Given the description of an element on the screen output the (x, y) to click on. 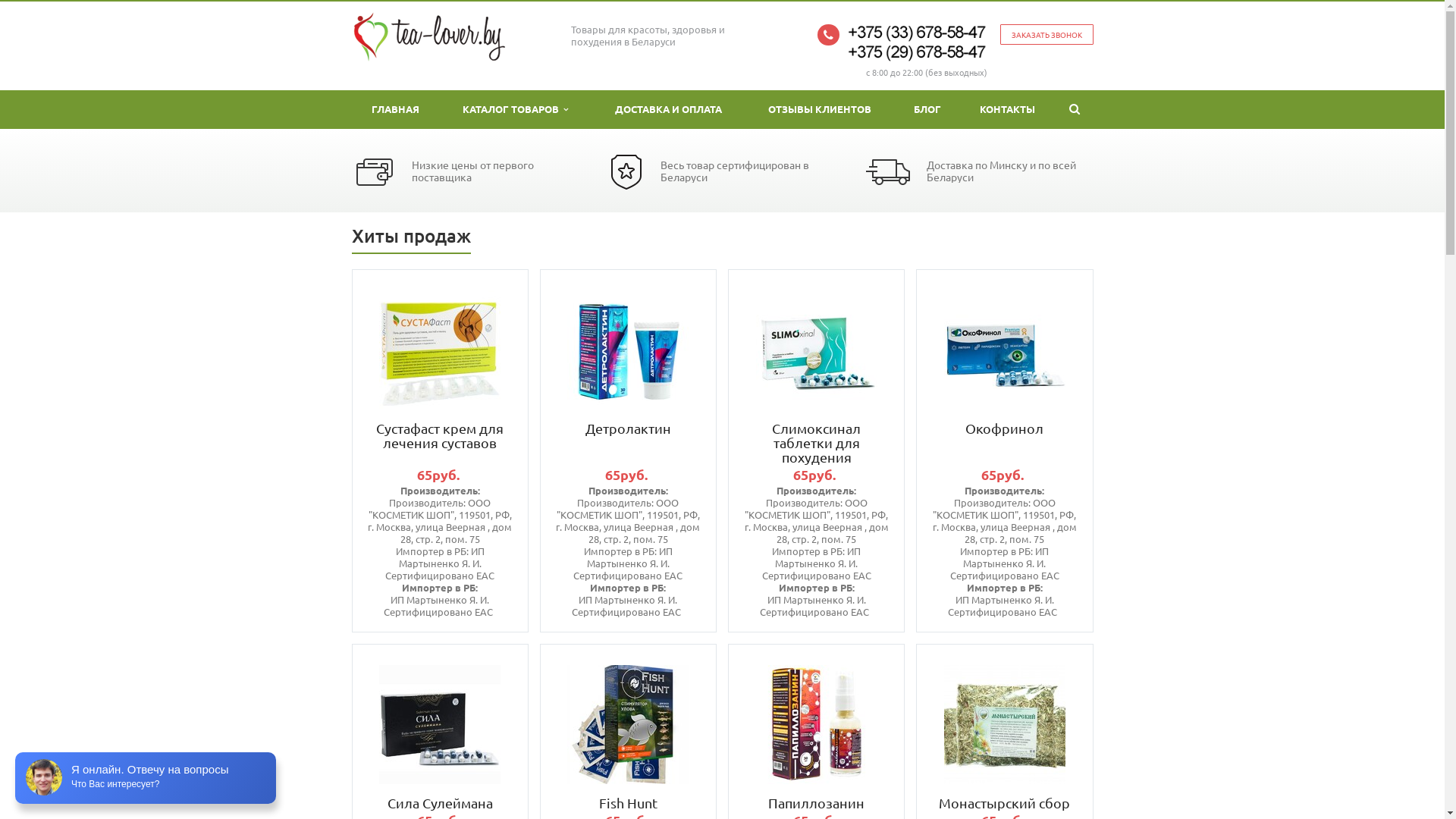
Fish Hunt Element type: text (628, 802)
Fish Hunt Element type: hover (627, 724)
